Given the description of an element on the screen output the (x, y) to click on. 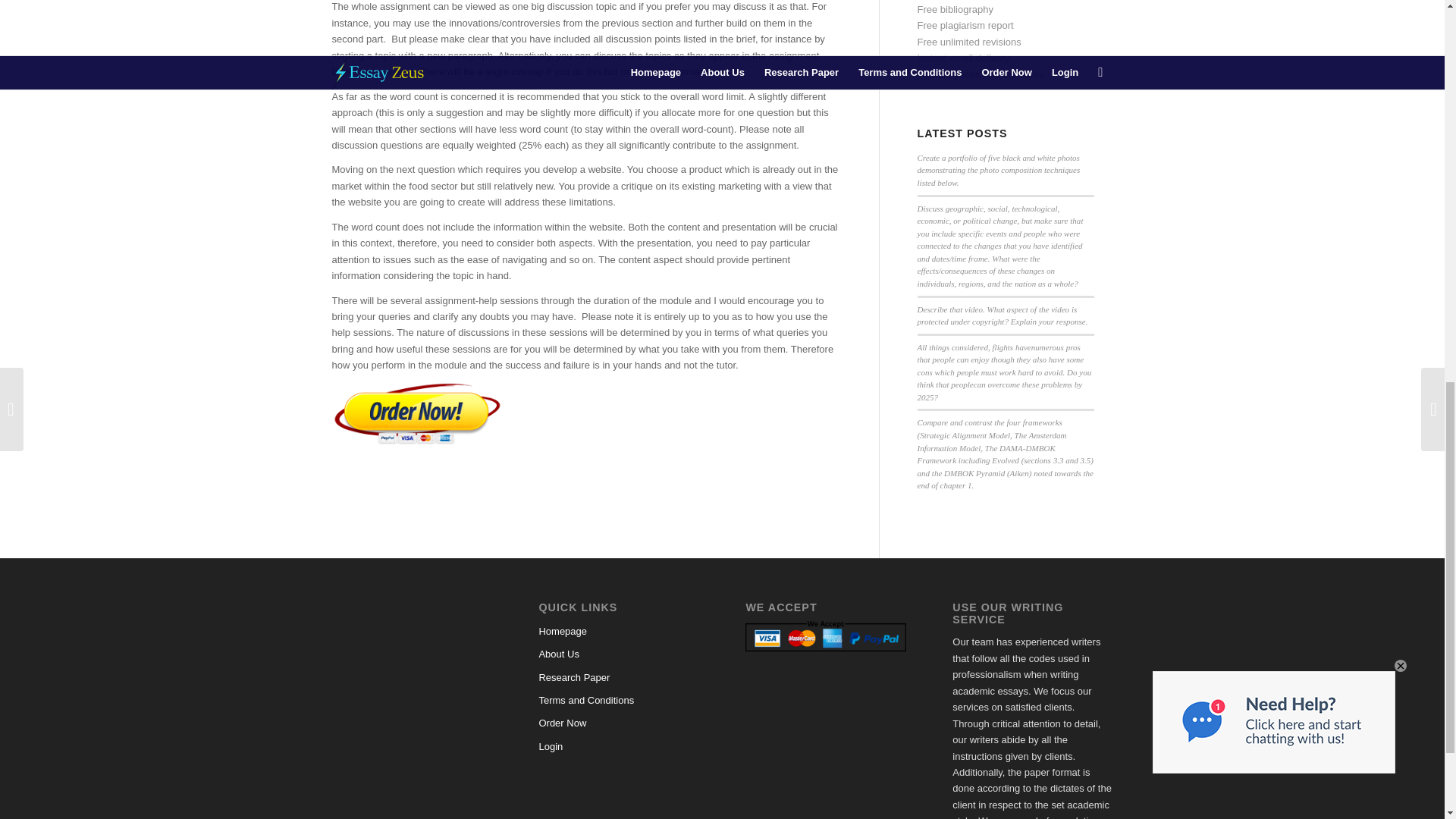
Homepage (618, 630)
Order Now (618, 722)
About Us (618, 653)
Terms and Conditions (618, 700)
Research Paper (618, 677)
Login (618, 746)
